Given the description of an element on the screen output the (x, y) to click on. 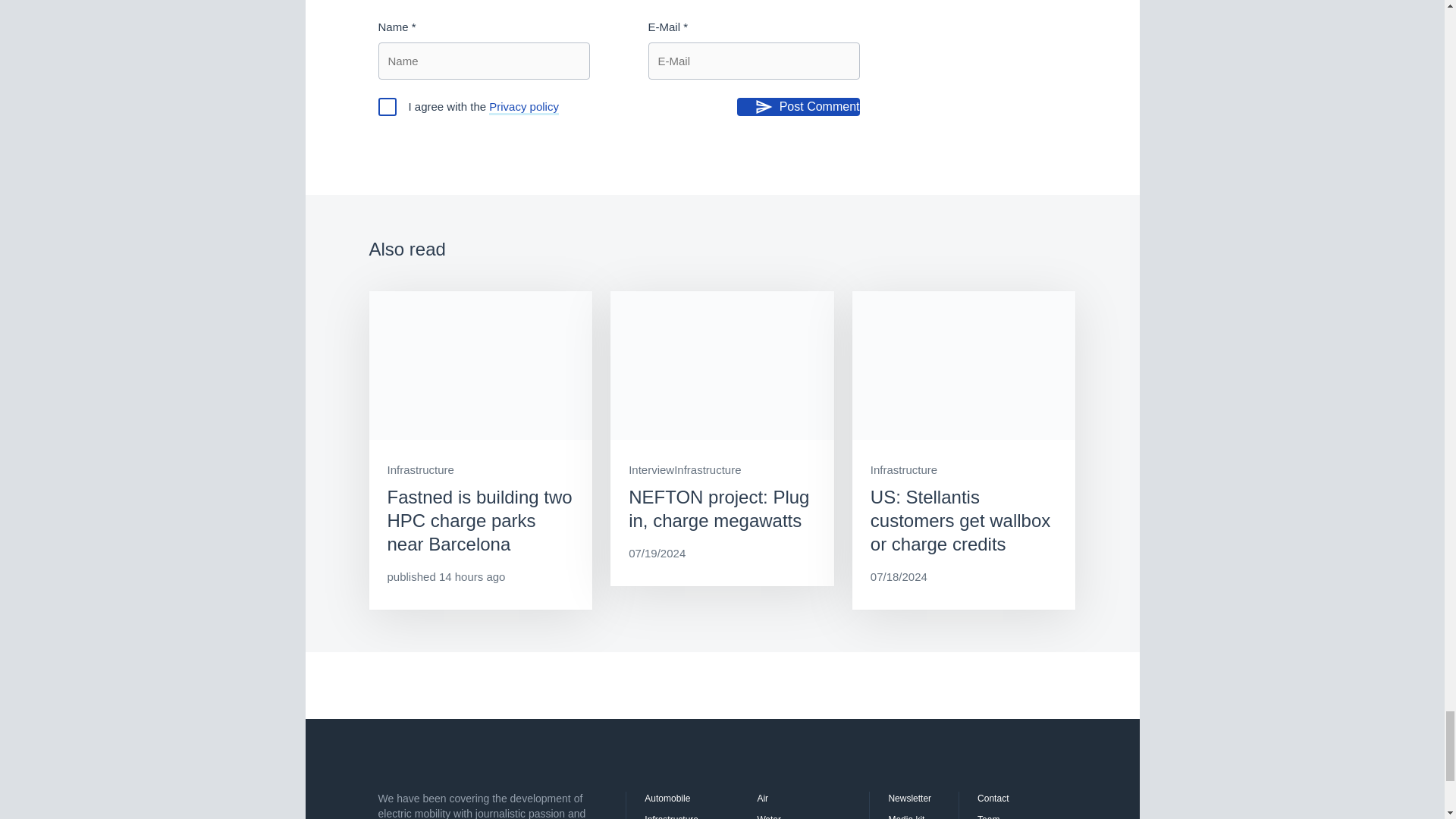
Post Comment (798, 106)
